Given the description of an element on the screen output the (x, y) to click on. 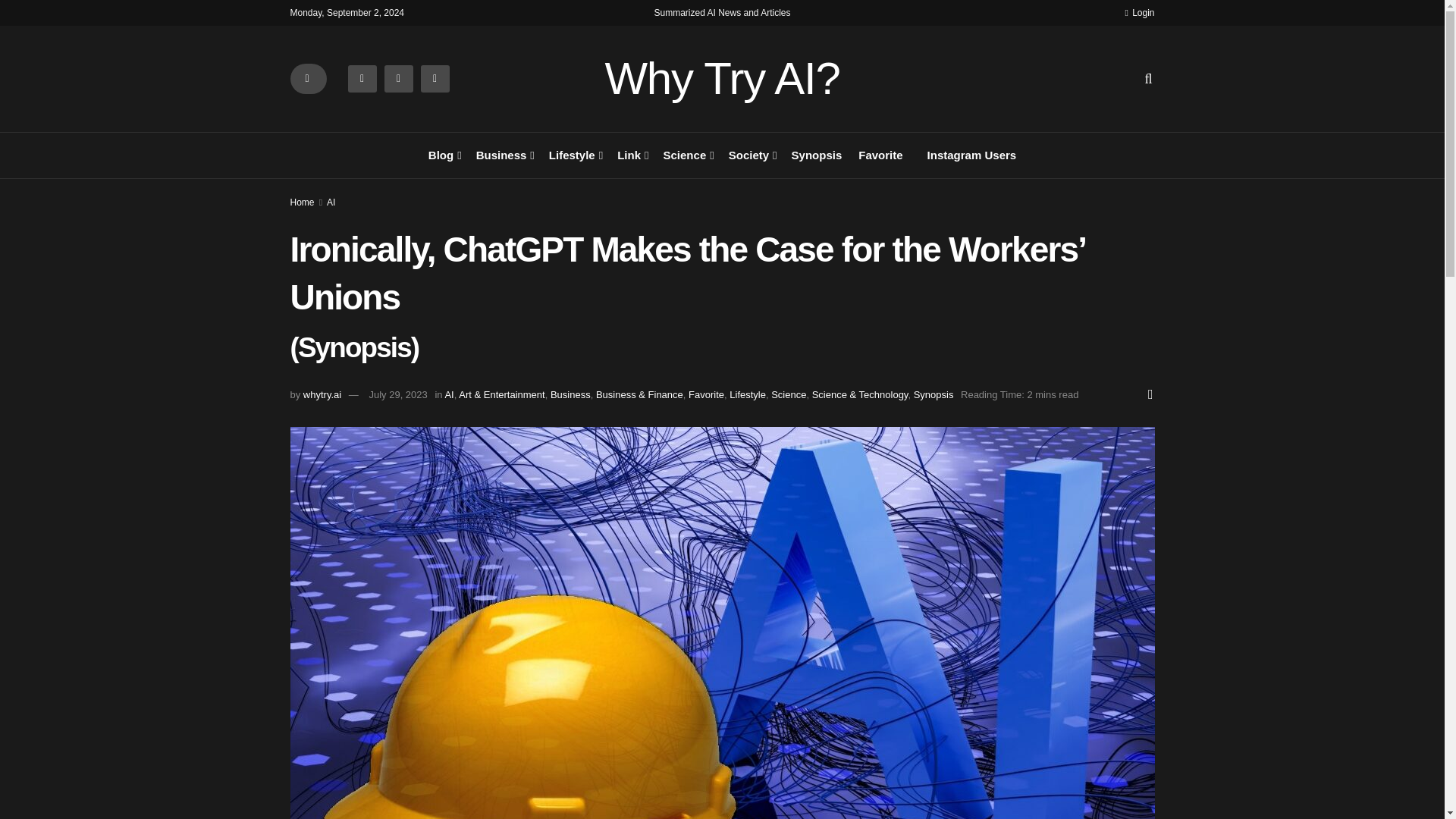
Synopsis (817, 155)
Favorite (880, 155)
Lifestyle (573, 155)
Business (504, 155)
Login (1139, 12)
Why Try AI? (722, 78)
Society (751, 155)
Instagram Users (968, 155)
Science (687, 155)
